Given the description of an element on the screen output the (x, y) to click on. 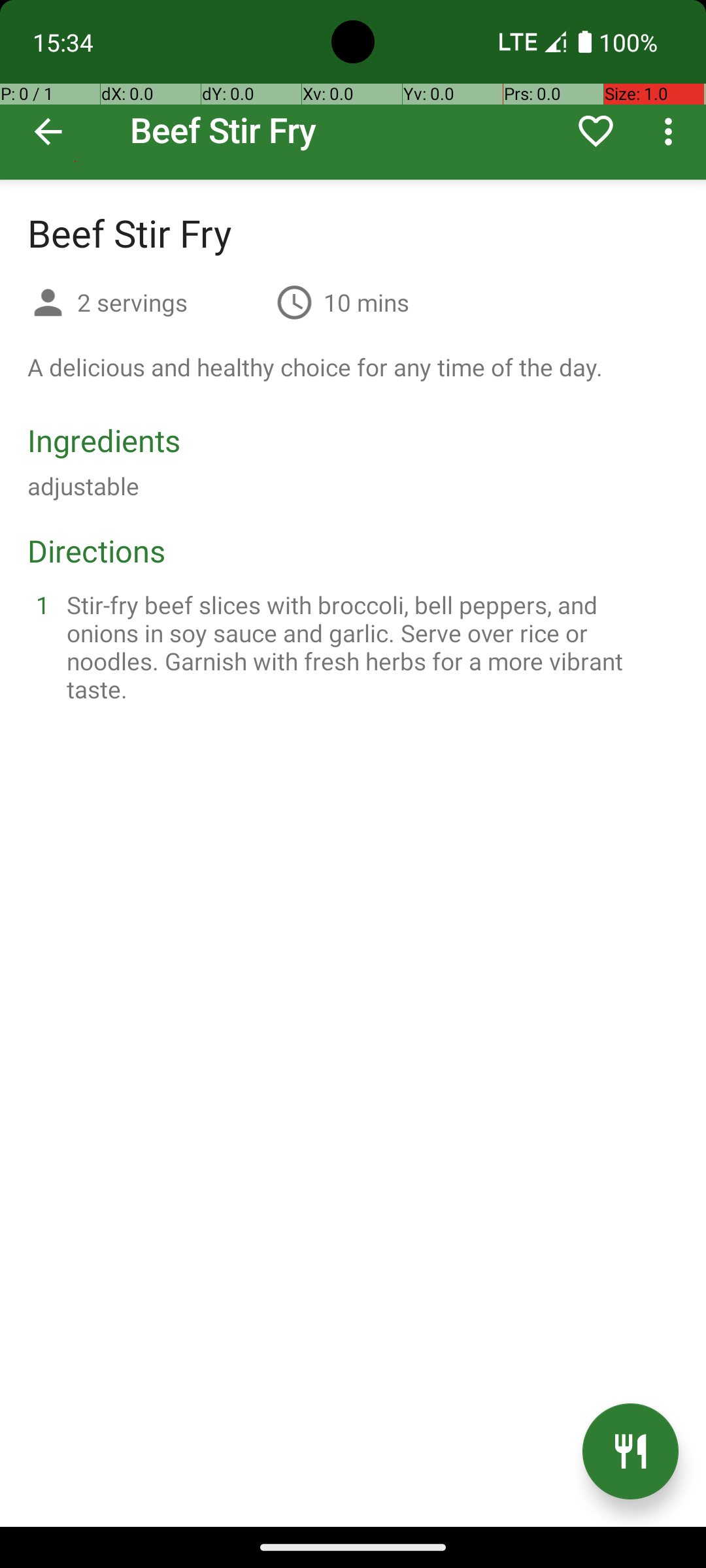
Stir-fry beef slices with broccoli, bell peppers, and onions in soy sauce and garlic. Serve over rice or noodles. Garnish with fresh herbs for a more vibrant taste. Element type: android.widget.TextView (368, 646)
